Given the description of an element on the screen output the (x, y) to click on. 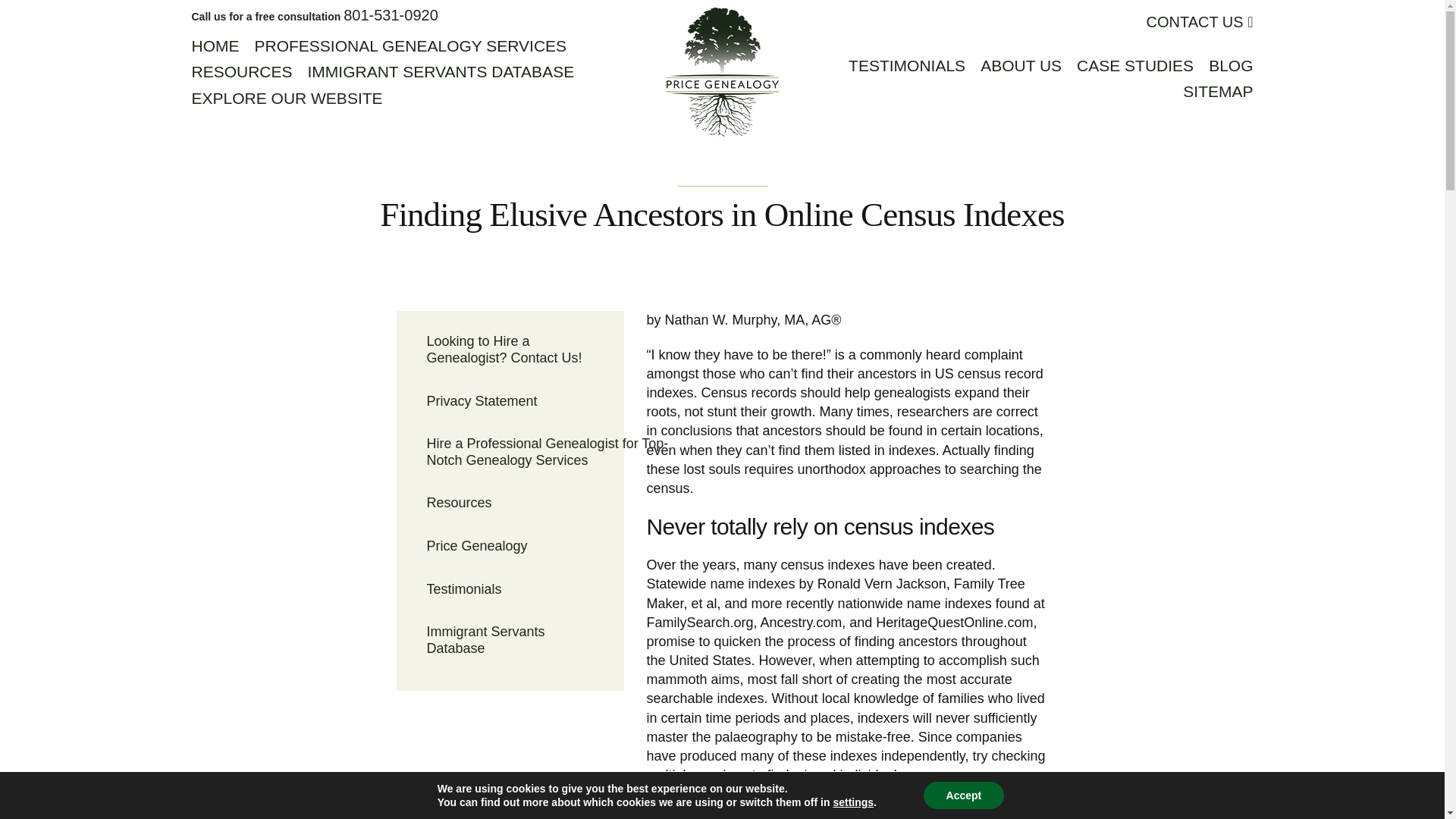
Immigrant Servants Database (509, 640)
Privacy Statement (509, 401)
ABOUT US (1020, 65)
Resources (509, 503)
Looking to Hire a Genealogist? Contact Us! (509, 349)
CASE STUDIES (1135, 65)
IMMIGRANT SERVANTS DATABASE (441, 71)
RESOURCES (314, 14)
